Given the description of an element on the screen output the (x, y) to click on. 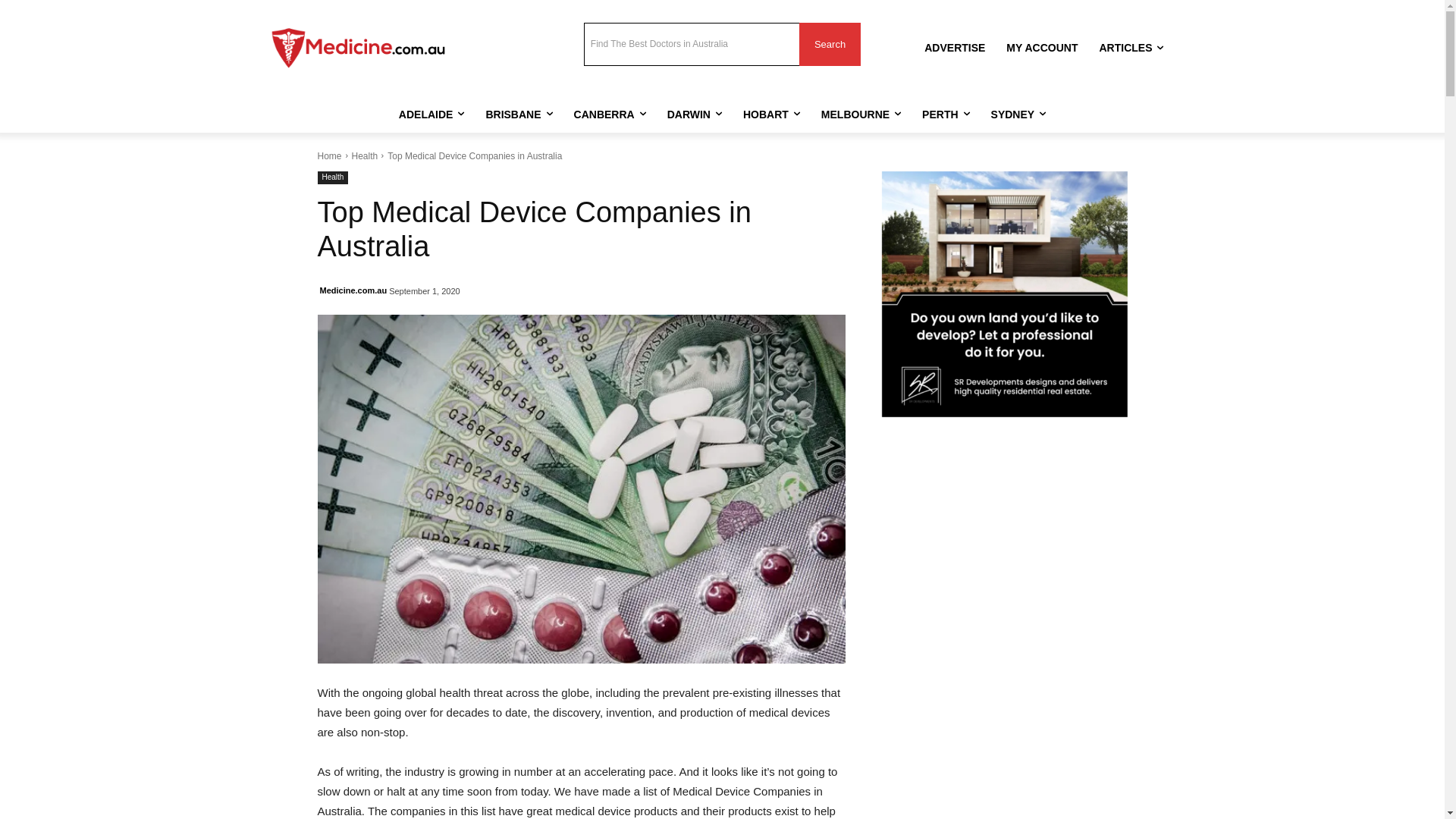
ADVERTISE Element type: text (954, 47)
HOBART Element type: text (771, 114)
Facebook Element type: hover (454, 28)
Instagram Element type: hover (475, 28)
Vimeo Element type: hover (517, 28)
DARWIN Element type: text (694, 114)
Medicine.com.au Element type: text (353, 290)
PERTH Element type: text (945, 114)
Twitter Element type: hover (496, 28)
ARTICLES Element type: text (1130, 47)
Top Medical Device Companies in Australia Element type: hover (580, 488)
MY ACCOUNT Element type: text (1041, 47)
Health Element type: text (364, 155)
MELBOURNE Element type: text (860, 114)
Medicine.com.au Red Logo Element type: hover (357, 47)
BRISBANE Element type: text (518, 114)
Health Element type: text (332, 177)
ADELAIDE Element type: text (431, 114)
Youtube Element type: hover (538, 28)
Home Element type: text (328, 155)
CANBERRA Element type: text (609, 114)
Search Element type: text (829, 43)
SYDNEY Element type: text (1018, 114)
